Given the description of an element on the screen output the (x, y) to click on. 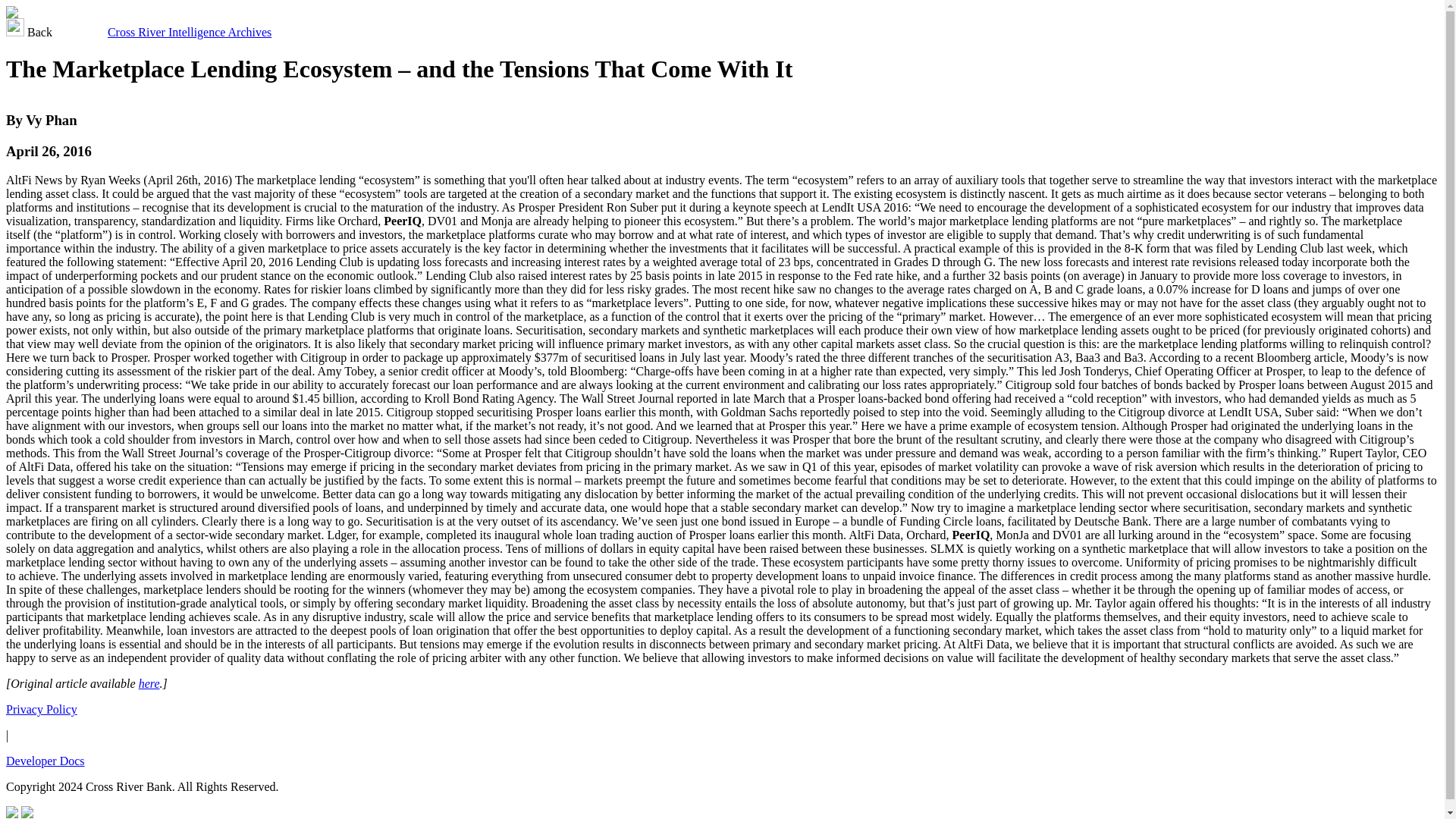
Developer Docs (44, 760)
Privacy Policy (41, 708)
Cross River Intelligence Archives (188, 31)
Back (30, 31)
here (149, 683)
